Given the description of an element on the screen output the (x, y) to click on. 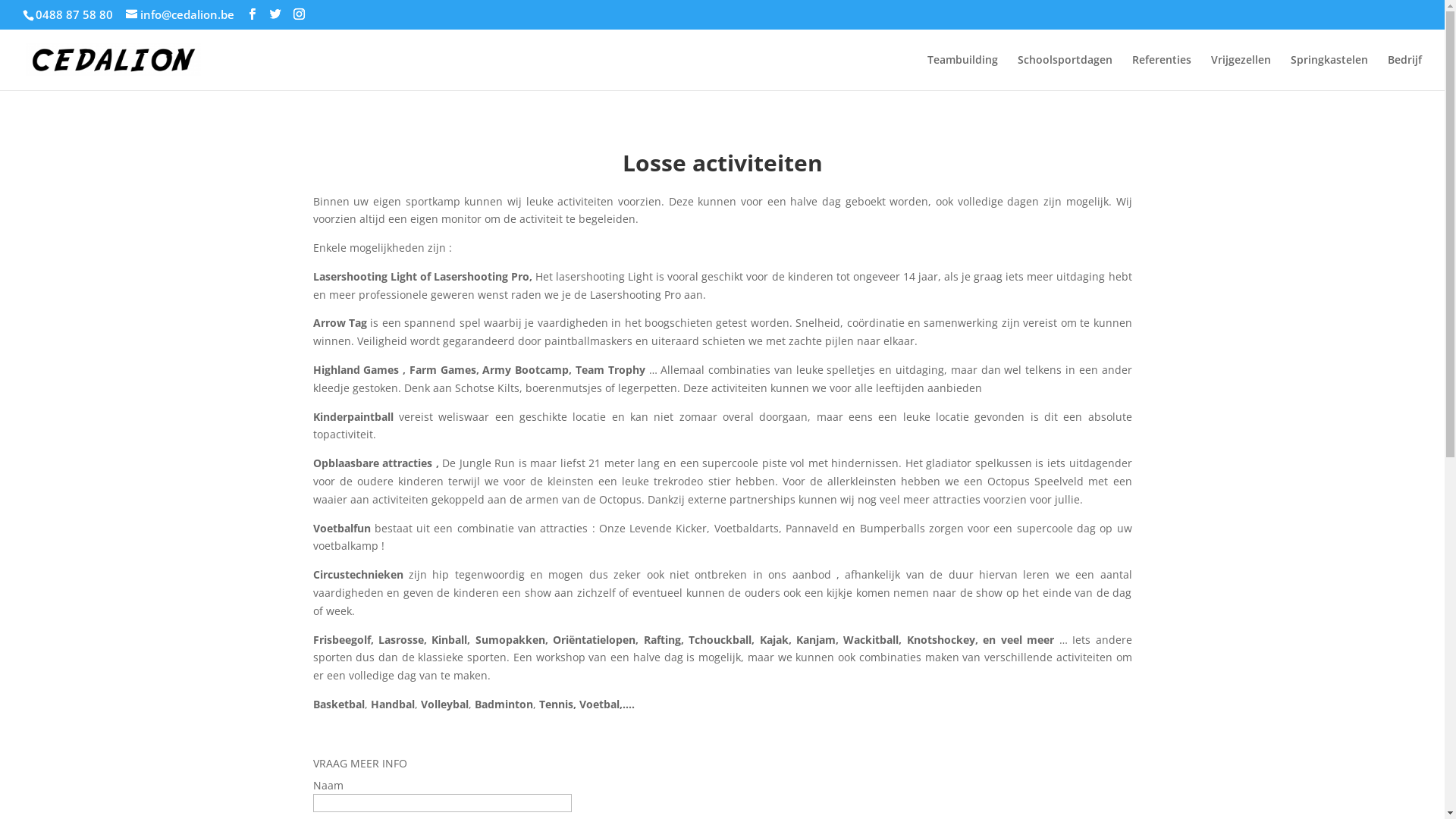
Referenties Element type: text (1161, 72)
Vrijgezellen Element type: text (1240, 72)
Bedrijf Element type: text (1404, 72)
Springkastelen Element type: text (1329, 72)
Schoolsportdagen Element type: text (1064, 72)
info@cedalion.be Element type: text (179, 13)
Teambuilding Element type: text (962, 72)
